Given the description of an element on the screen output the (x, y) to click on. 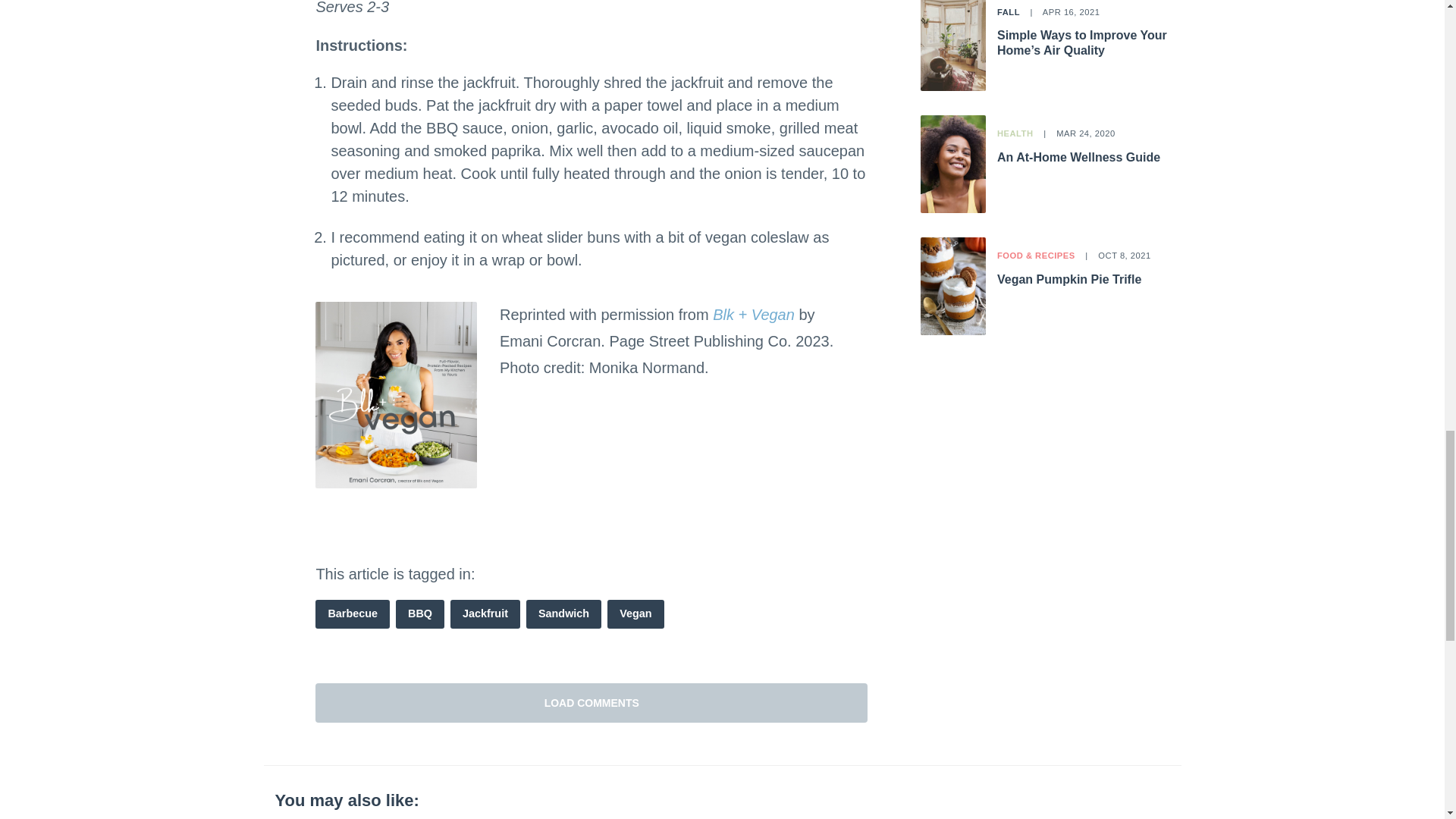
Vegan Pumpkin Pie Trifle (1069, 278)
Vegan (635, 613)
Barbecue (352, 613)
Jackfruit (484, 613)
BBQ (420, 613)
An At-Home Wellness Guide (1078, 156)
Sandwich (563, 613)
